Given the description of an element on the screen output the (x, y) to click on. 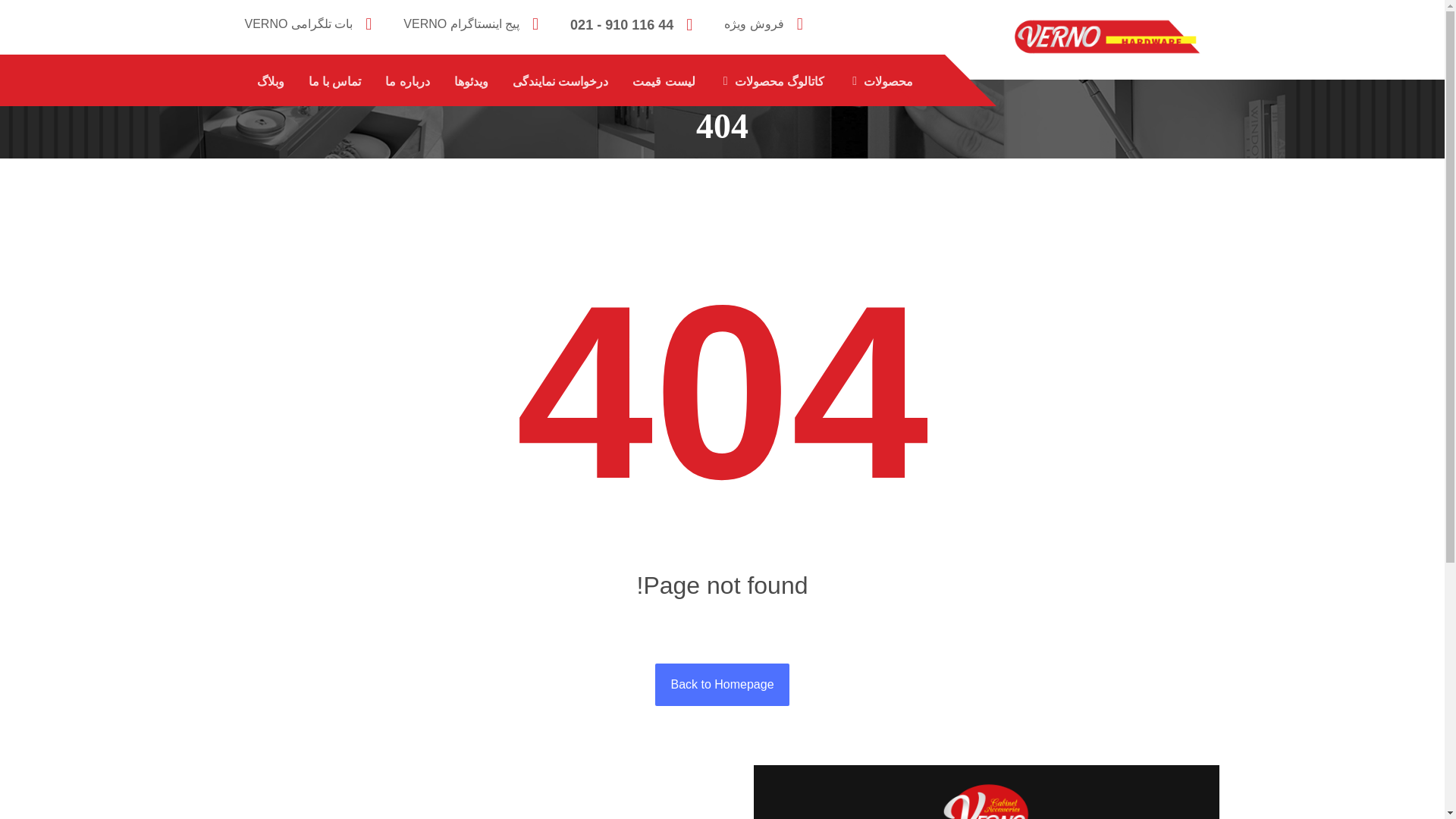
44 116 910 - 021 (635, 23)
Back to Homepage (722, 684)
